Given the description of an element on the screen output the (x, y) to click on. 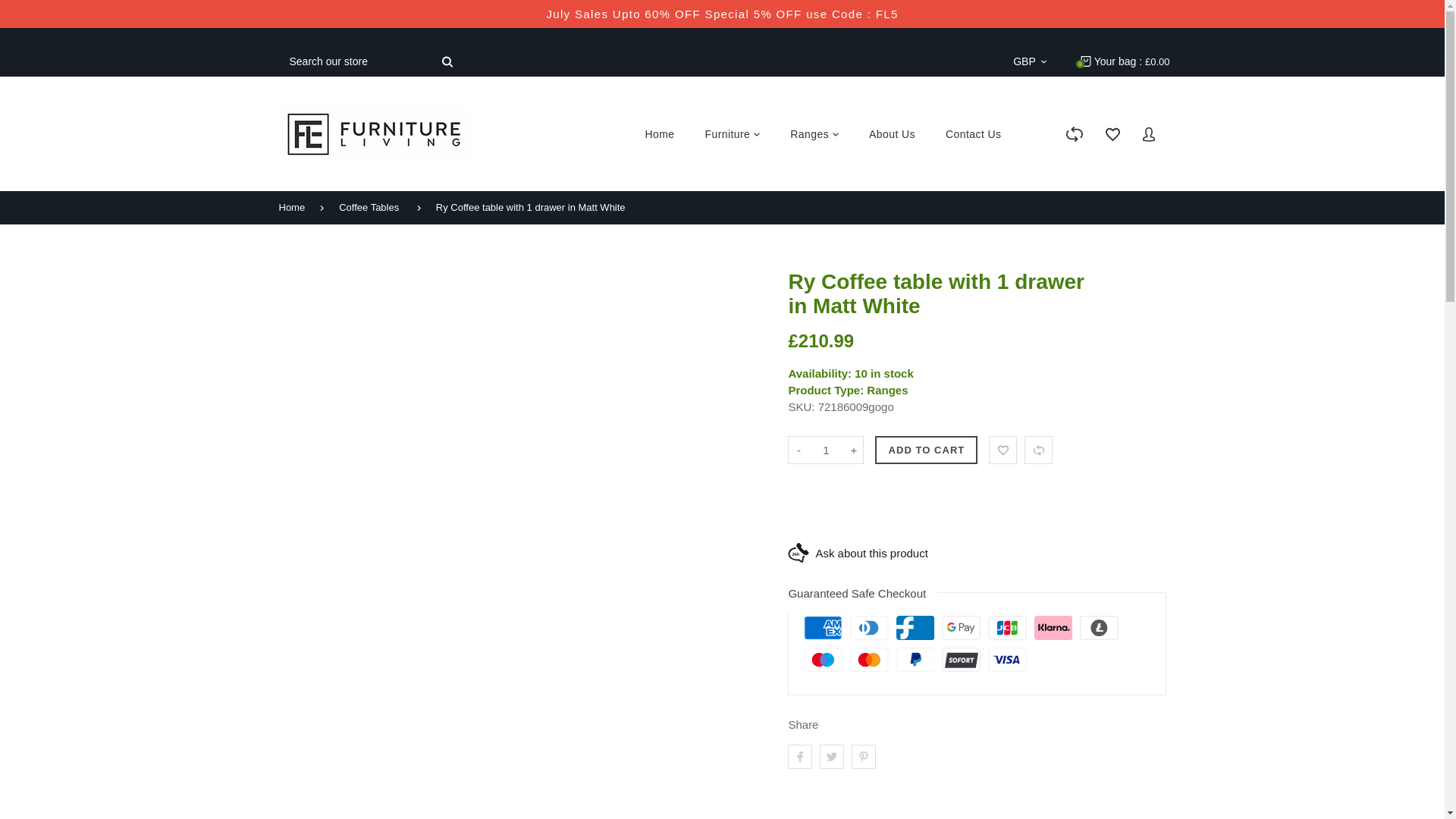
Add to Wishlist (1002, 449)
Add to Compare (1038, 449)
Home (658, 134)
GBP (1029, 61)
Share on Facebook (799, 756)
Tweet on Twitter (831, 756)
Furniture (733, 134)
Pin on Pinterest (863, 756)
Home (299, 207)
1 (825, 449)
